Given the description of an element on the screen output the (x, y) to click on. 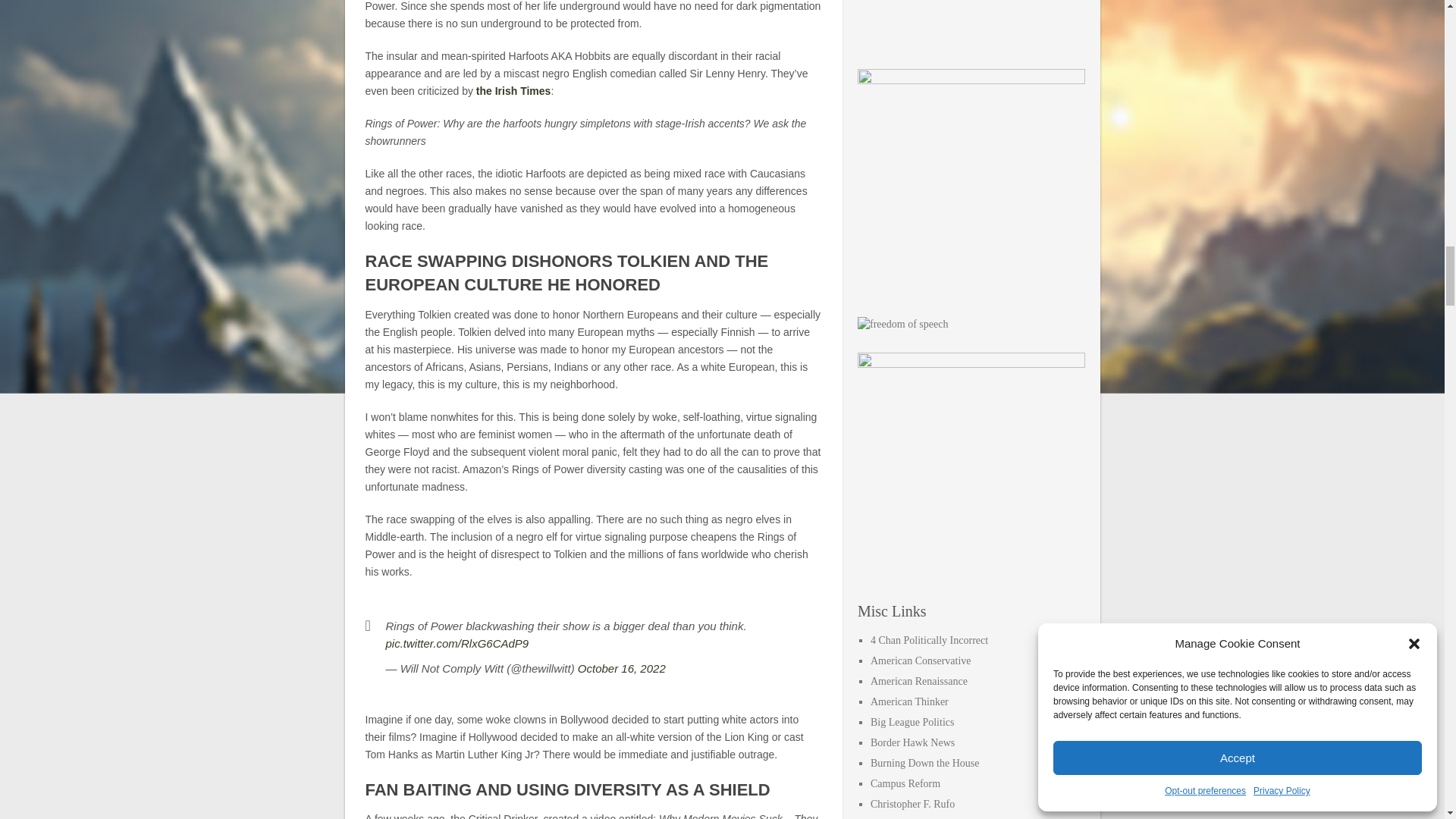
the Irish Times (513, 91)
October 16, 2022 (621, 667)
